Given the description of an element on the screen output the (x, y) to click on. 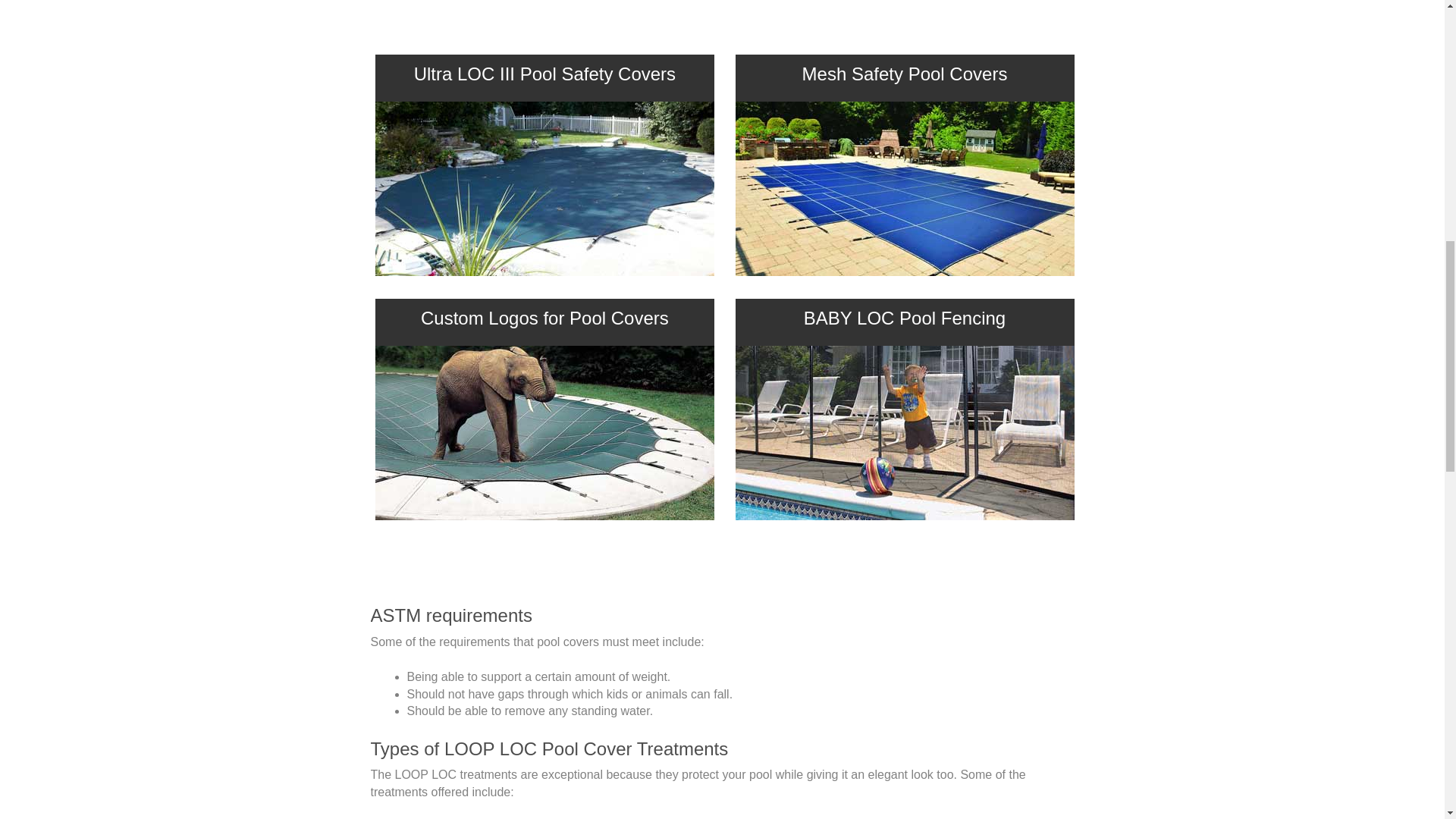
Custom Logos for Pool Covers (544, 317)
Mesh Safety Pool Covers (904, 73)
BABY LOC Pool Fencing (904, 317)
Ultra LOC III Pool Safety Covers (544, 73)
